Given the description of an element on the screen output the (x, y) to click on. 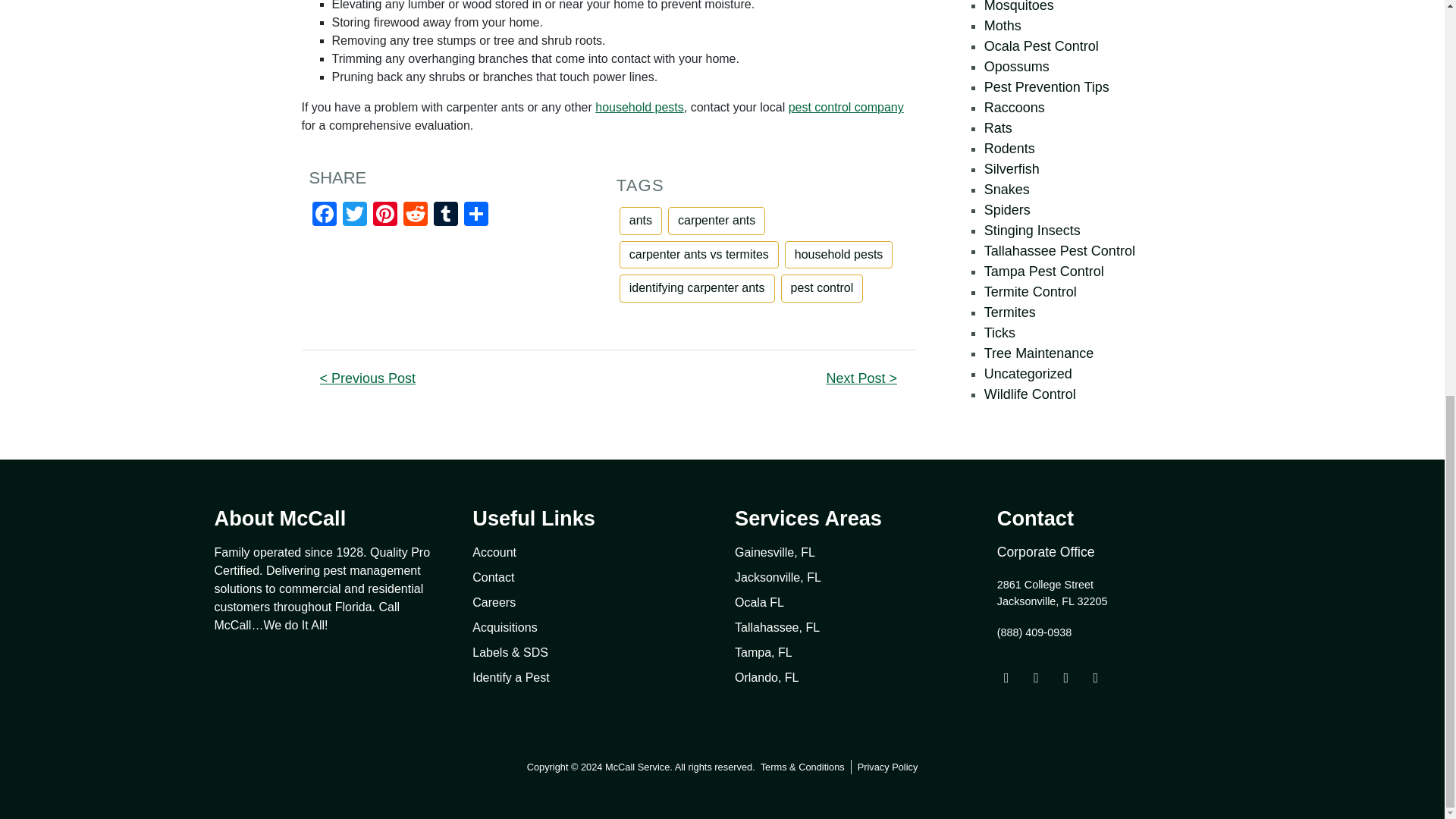
Tumblr (445, 215)
Facebook (323, 215)
Reddit (415, 215)
Twitter (354, 215)
Pinterest (384, 215)
